Given the description of an element on the screen output the (x, y) to click on. 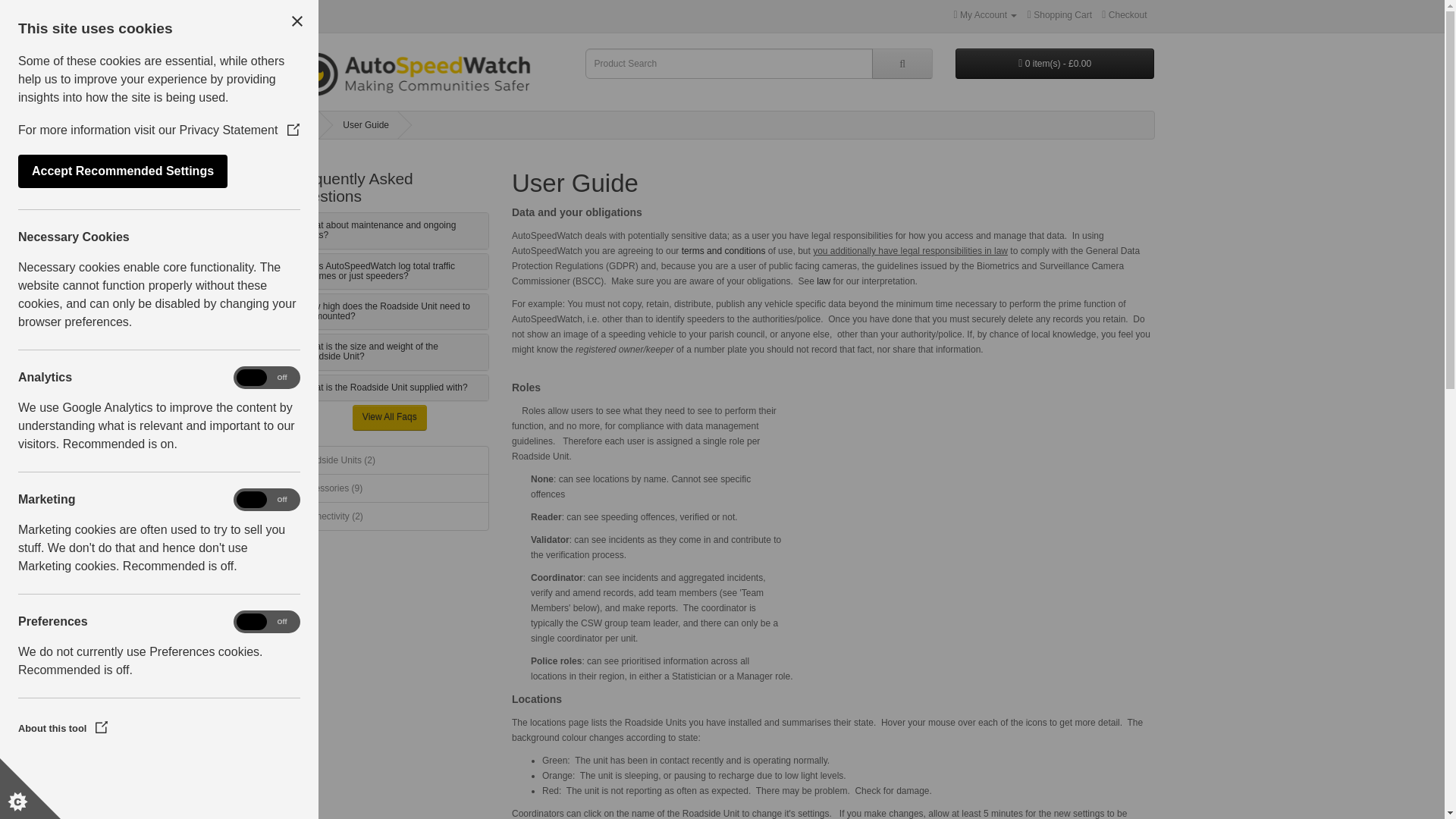
How high does the Roadside Unit need to be mounted? (389, 311)
AutoSpeedWatch (425, 75)
My Account (985, 14)
What is the Roadside Unit supplied with? (389, 388)
What about maintenance and ongoing costs? (389, 230)
User Guide (365, 124)
Checkout (1124, 14)
What is the size and weight of the Roadside Unit? (389, 351)
Shopping Cart (1059, 14)
View All Faqs (389, 416)
